Given the description of an element on the screen output the (x, y) to click on. 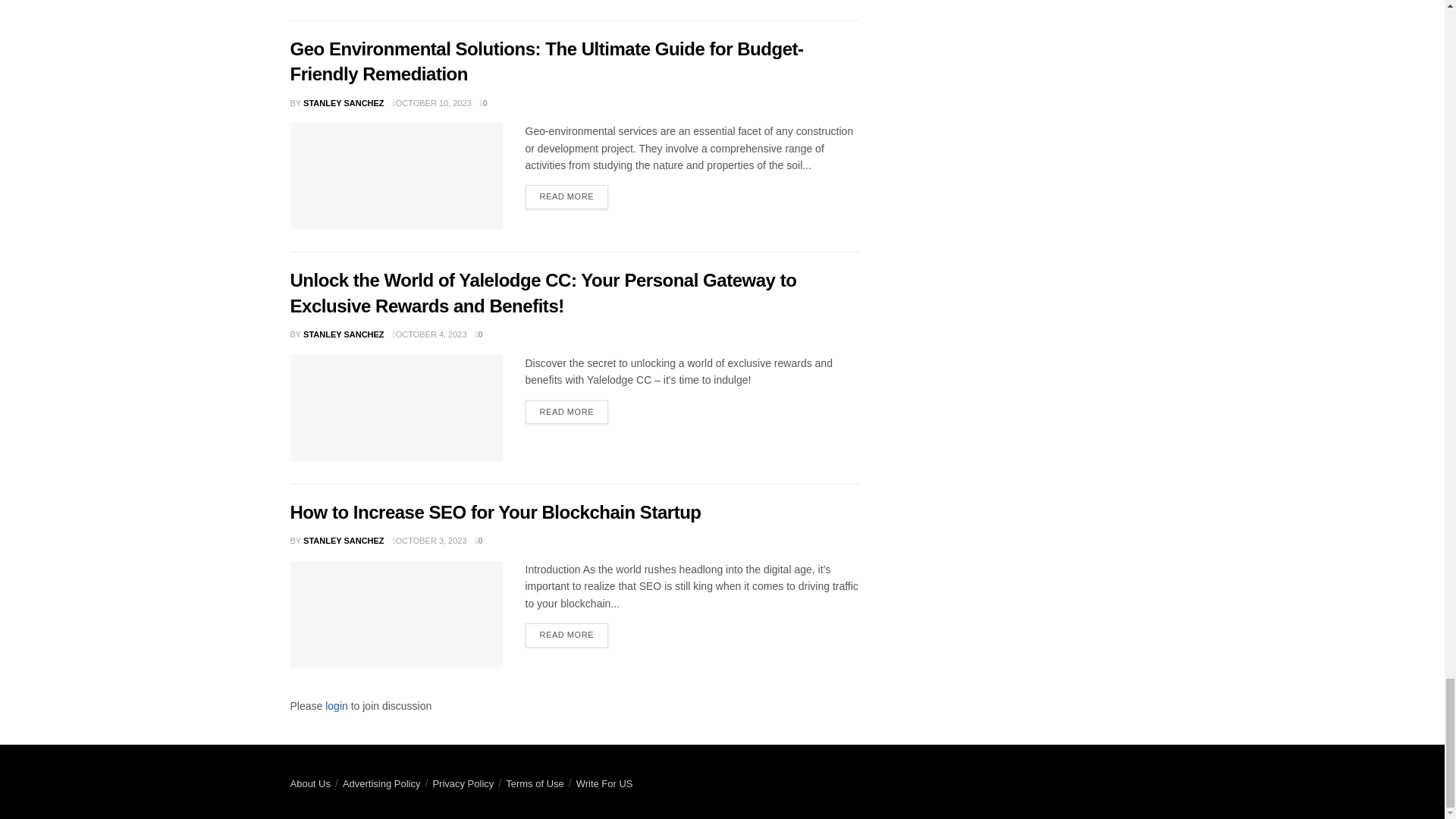
How to Increase SEO for Your Blockchain Startup (395, 614)
